Given the description of an element on the screen output the (x, y) to click on. 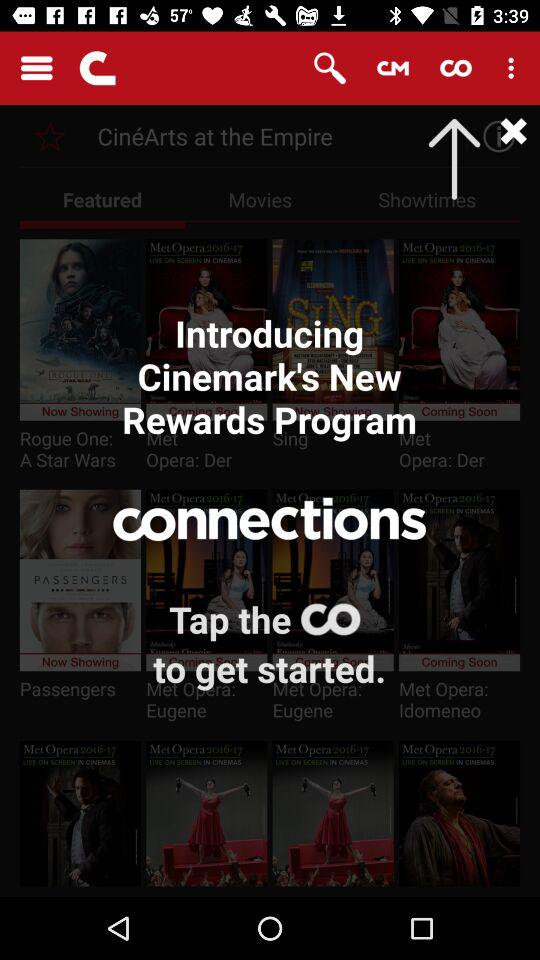
go to the advertised site (49, 136)
